Given the description of an element on the screen output the (x, y) to click on. 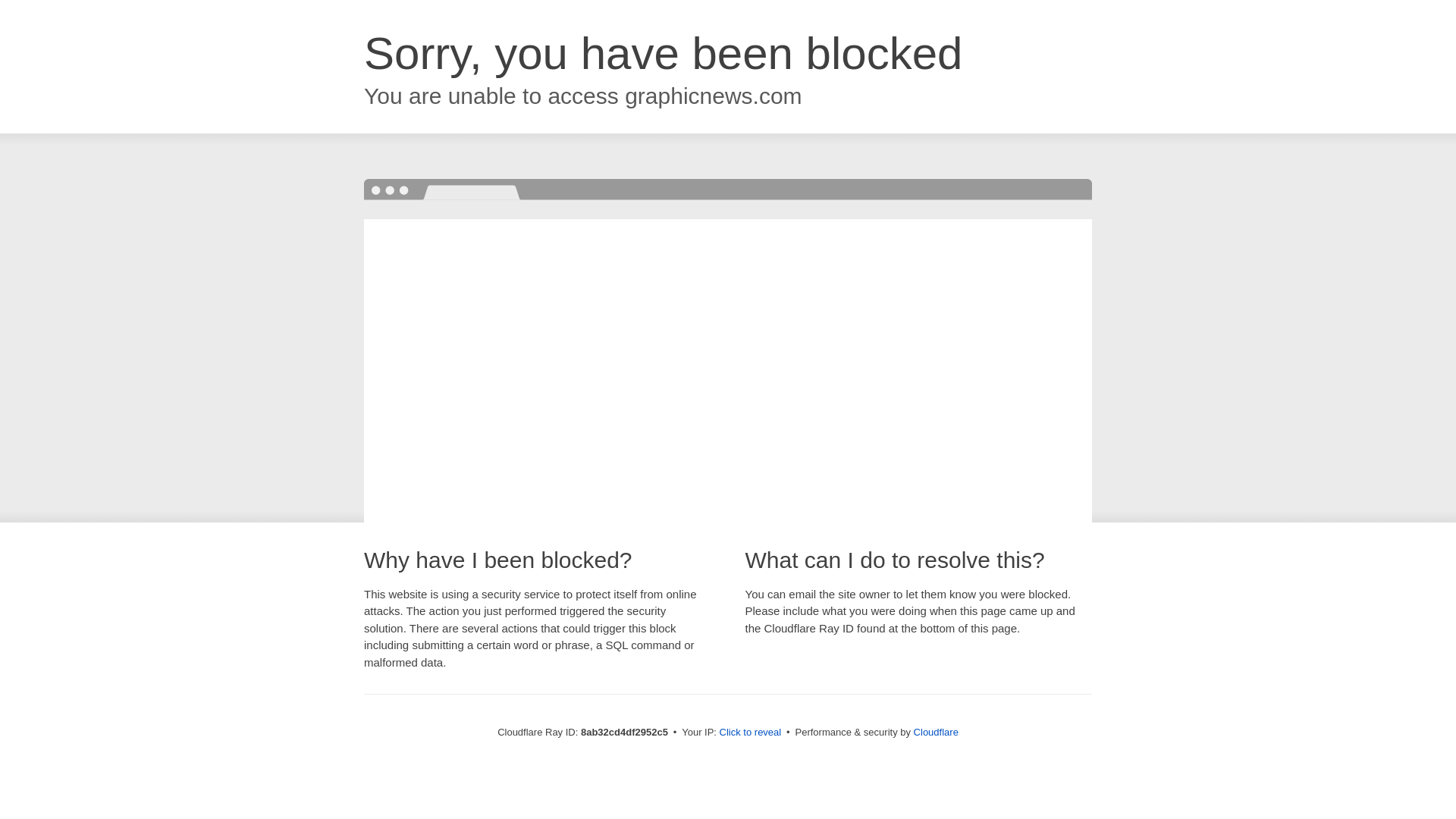
Cloudflare (936, 731)
Click to reveal (750, 732)
